Given the description of an element on the screen output the (x, y) to click on. 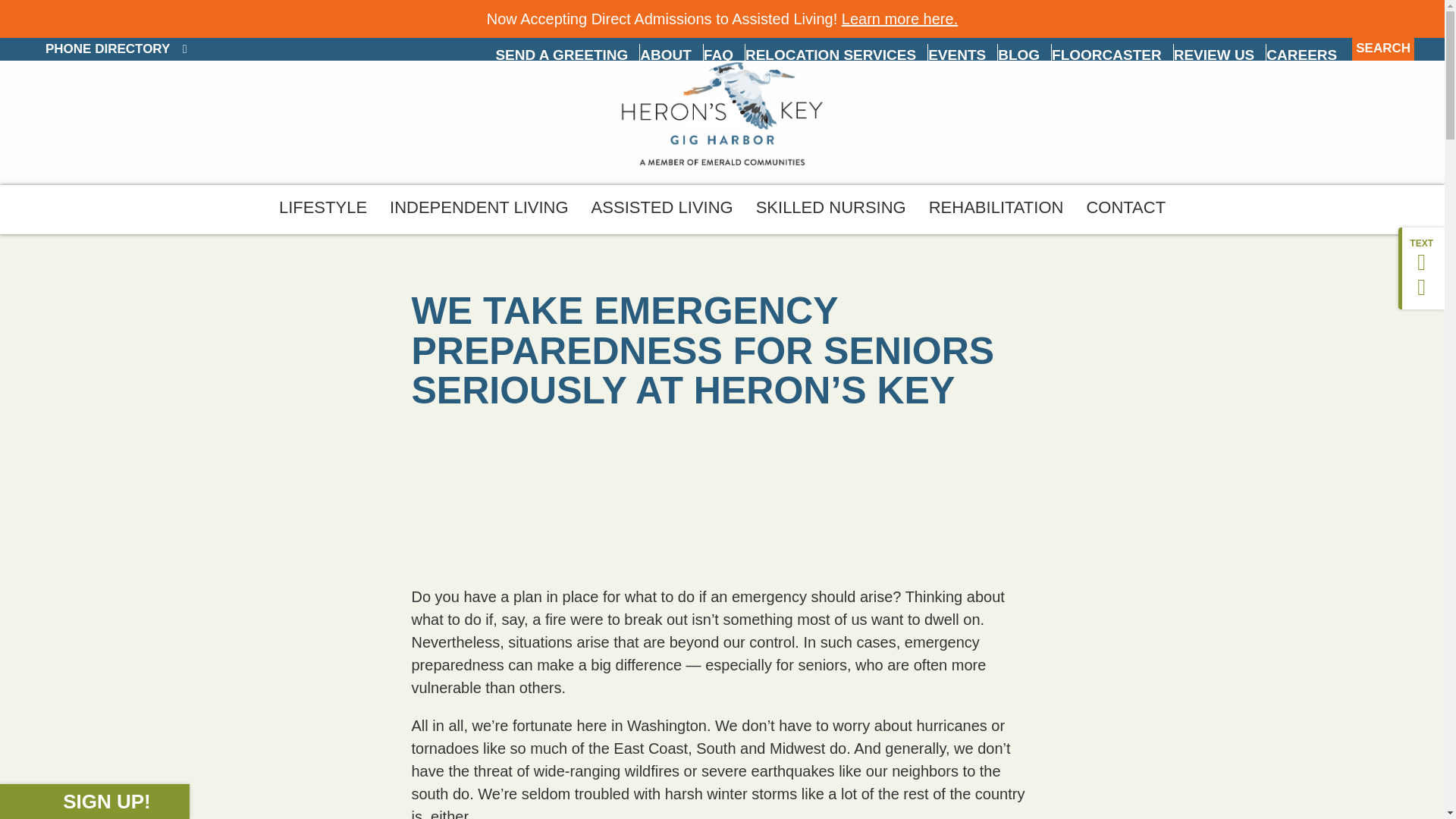
CAREERS (1306, 55)
SEND A GREETING (567, 55)
INDEPENDENT LIVING (478, 209)
RELOCATION SERVICES (835, 55)
CONTACT (1125, 209)
Heron's Key (722, 113)
EVENTS (962, 55)
Learn more here. (899, 18)
ASSISTED LIVING (661, 209)
Main Office1-877-892-7129 (162, 77)
